Given the description of an element on the screen output the (x, y) to click on. 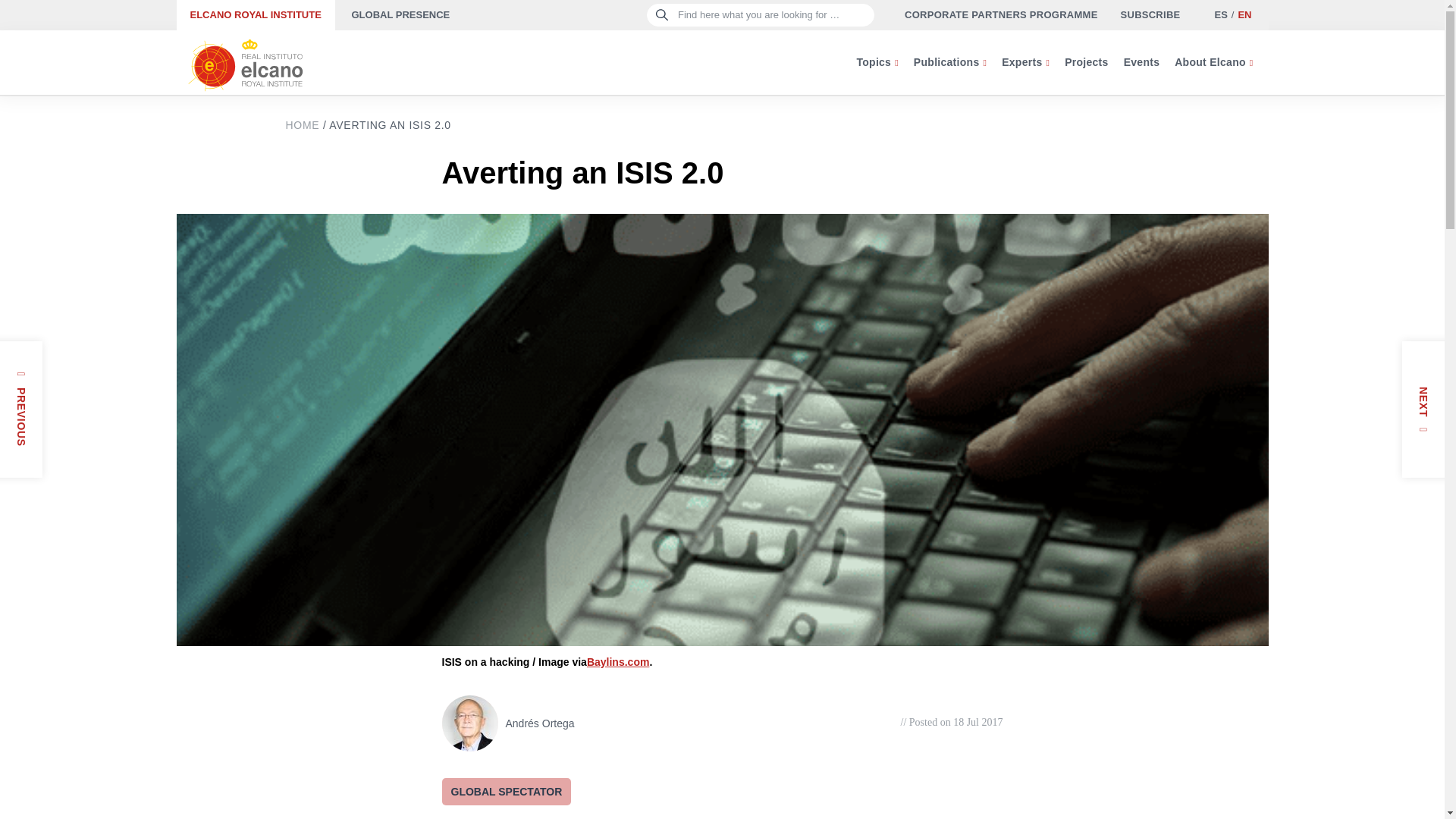
Projects (1086, 61)
Topics (876, 61)
SUBSCRIBE (1150, 15)
CORPORATE PARTNERS PROGRAMME (1000, 15)
GLOBAL PRESENCE (400, 15)
Posted on 18 Jul 2017 (952, 722)
Search (39, 18)
Experts (1025, 61)
EN (1244, 14)
Publications (949, 61)
